Given the description of an element on the screen output the (x, y) to click on. 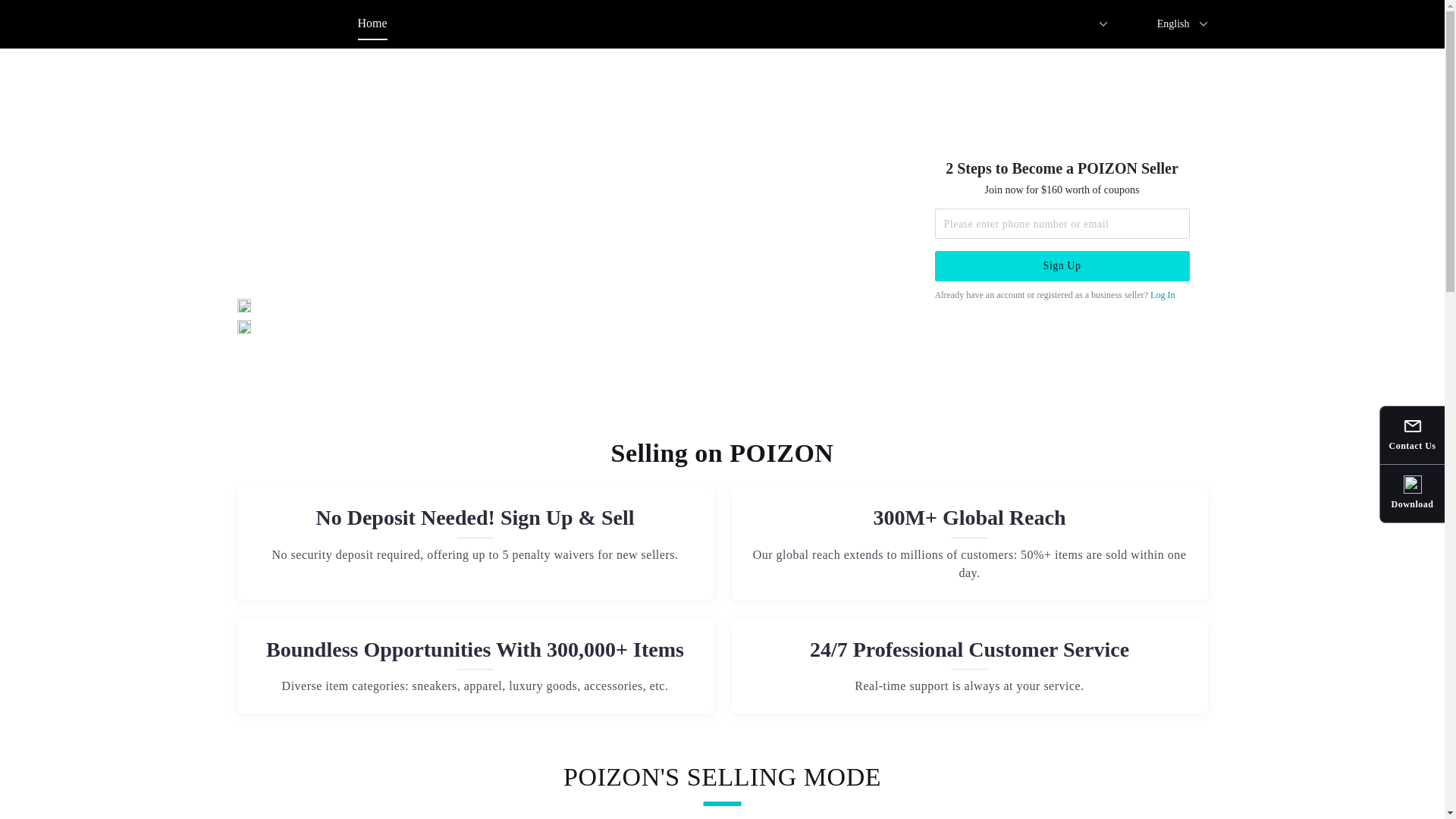
Home (372, 24)
Sign Up (1061, 265)
Contact Us (1412, 436)
